Given the description of an element on the screen output the (x, y) to click on. 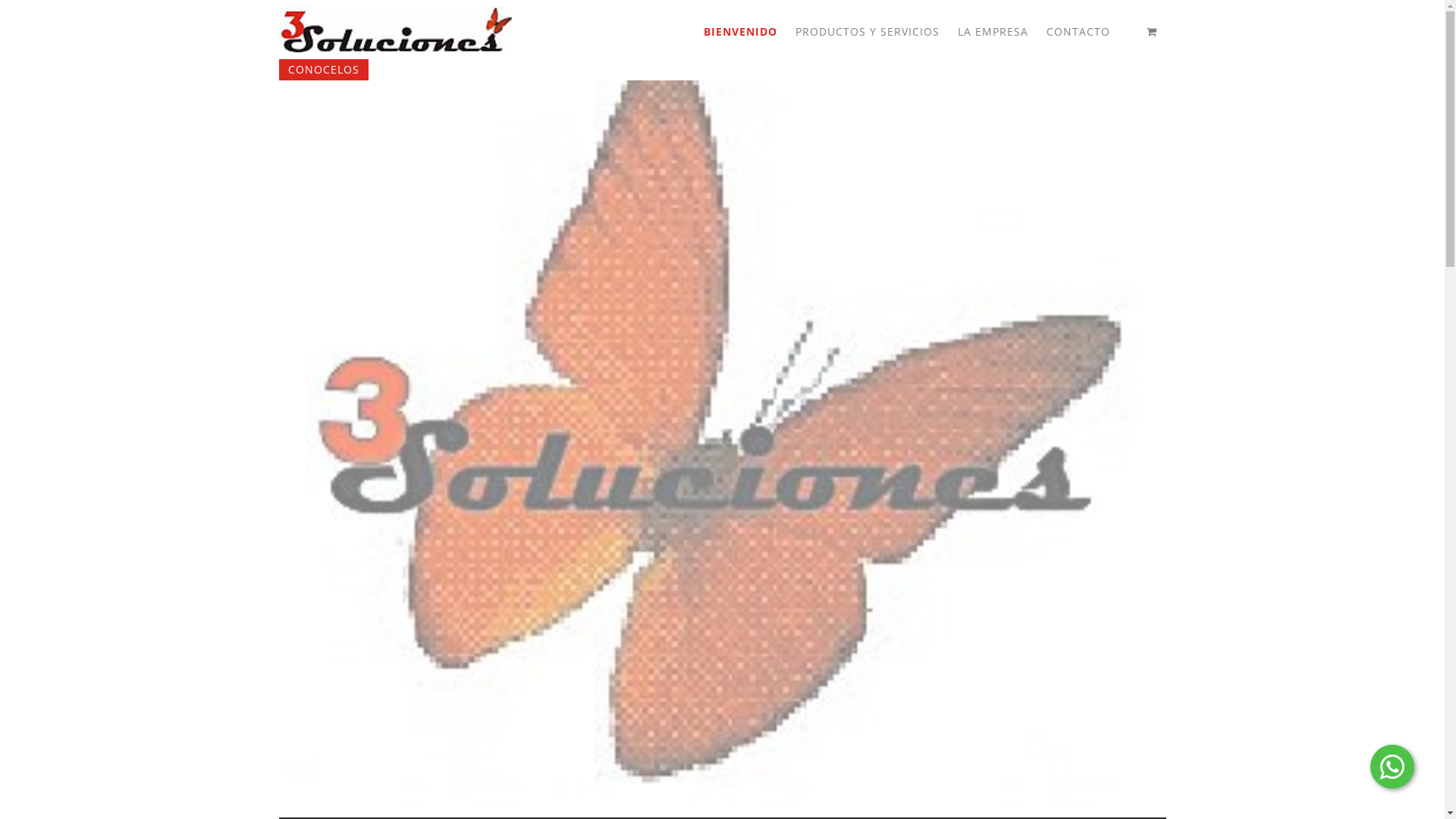
PRODUCTOS Y SERVICIOS Element type: text (879, 31)
LA EMPRESA Element type: text (1005, 31)
CONOCELOS Element type: text (323, 69)
BIENVENIDO Element type: text (752, 31)
CONTACTO Element type: text (1090, 31)
